Given the description of an element on the screen output the (x, y) to click on. 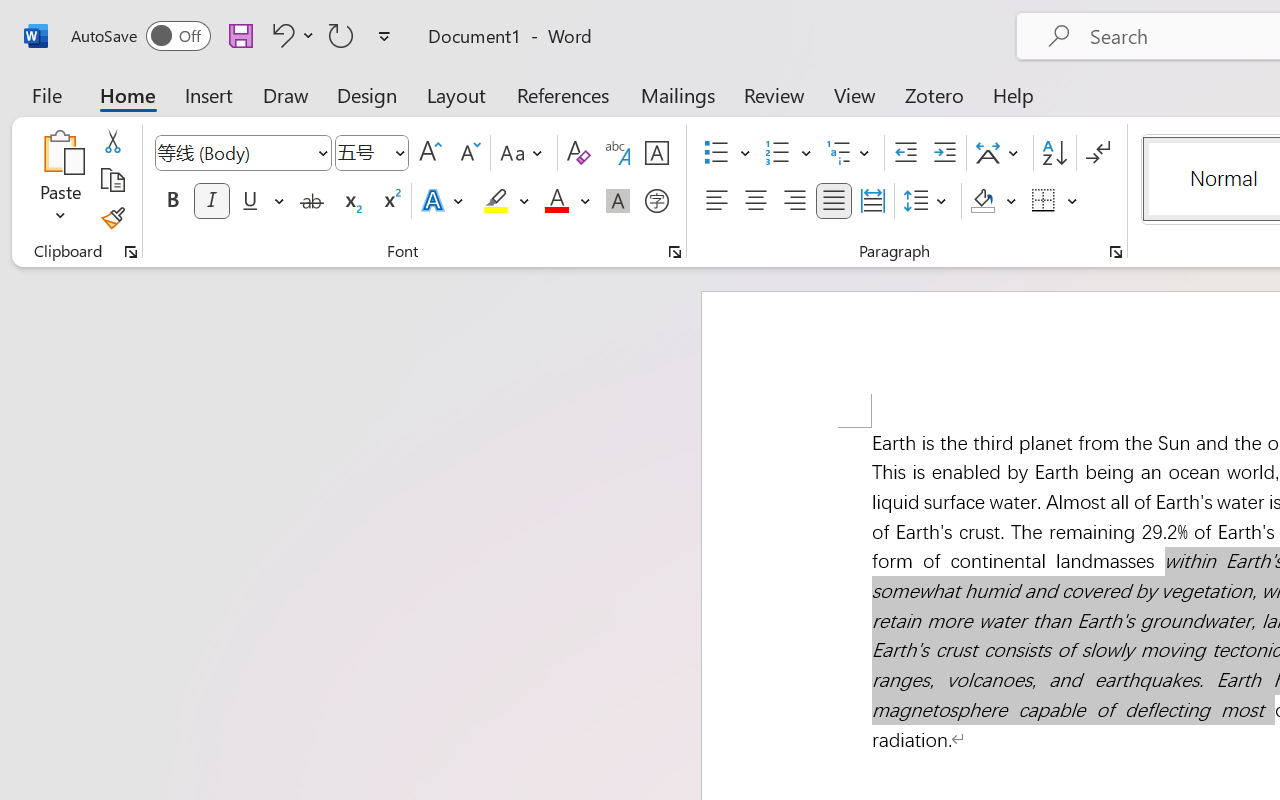
Sort... (1054, 153)
Text Highlight Color (506, 201)
Increase Indent (944, 153)
Subscript (350, 201)
Justify (834, 201)
Line and Paragraph Spacing (927, 201)
Paragraph... (1115, 252)
Decrease Indent (906, 153)
Bold (172, 201)
Open (399, 152)
